Given the description of an element on the screen output the (x, y) to click on. 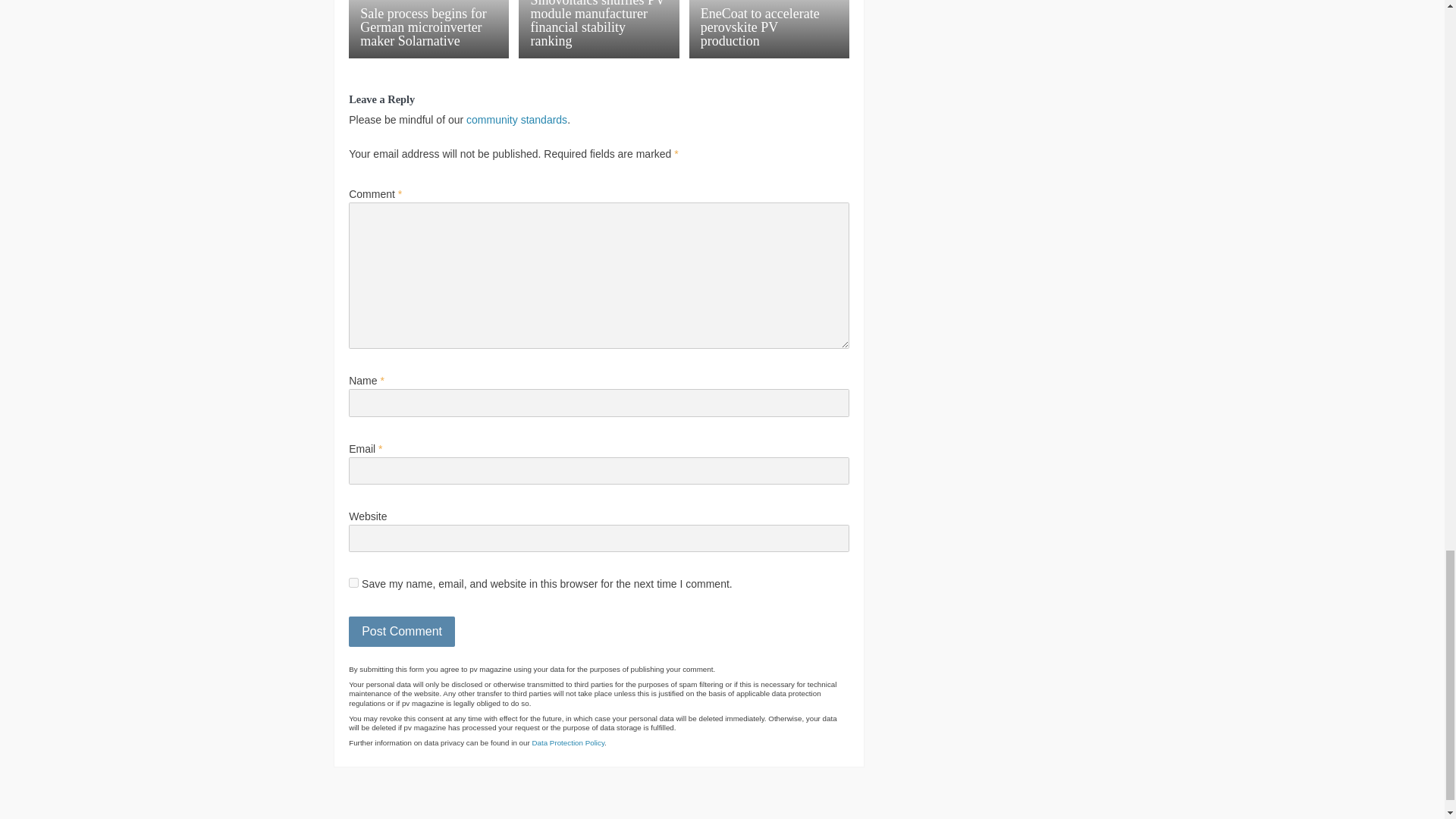
Post Comment (401, 631)
yes (353, 583)
